Given the description of an element on the screen output the (x, y) to click on. 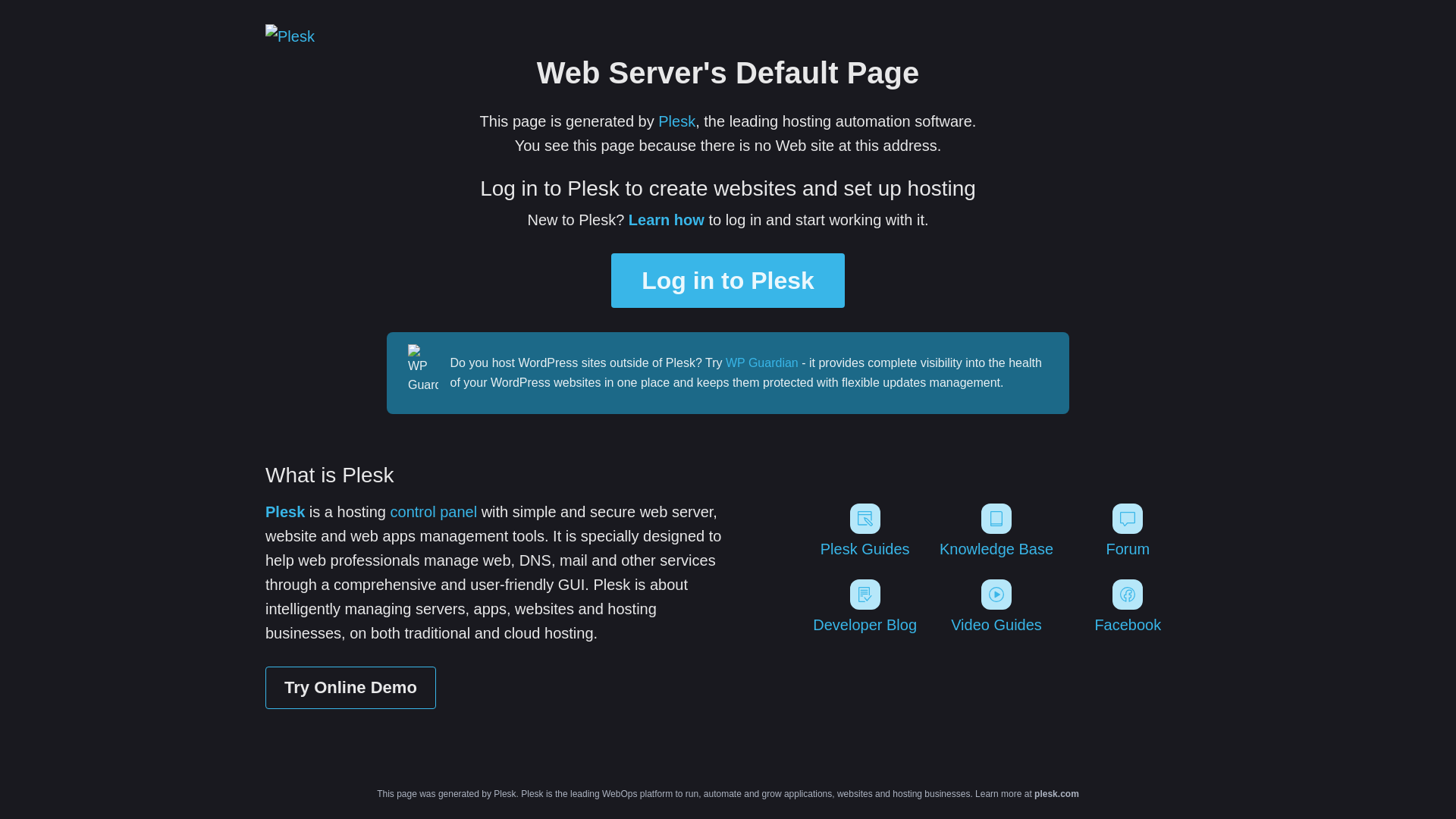
Learn how Element type: text (666, 219)
plesk.com Element type: text (1056, 793)
Plesk Element type: text (676, 120)
Try Online Demo Element type: text (350, 687)
Log in to Plesk Element type: text (727, 280)
Developer Blog Element type: text (864, 606)
Knowledge Base Element type: text (995, 530)
Video Guides Element type: text (995, 606)
Forum Element type: text (1127, 530)
Plesk Guides Element type: text (864, 530)
control panel Element type: text (433, 511)
Plesk Element type: text (284, 511)
Facebook Element type: text (1127, 606)
WP Guardian Element type: text (761, 362)
